Given the description of an element on the screen output the (x, y) to click on. 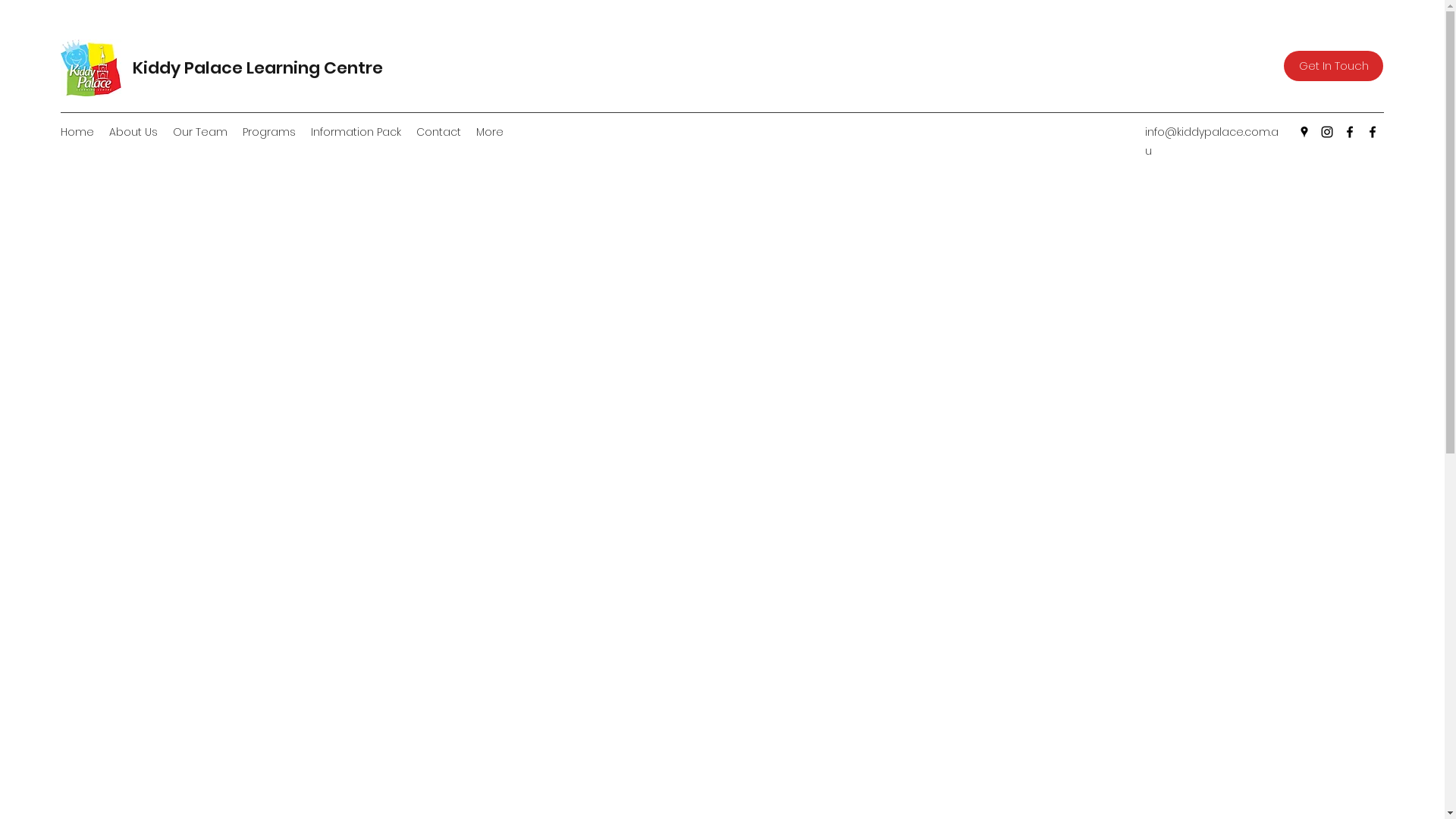
Kiddy Palace Learning Centre Element type: text (257, 67)
Get In Touch Element type: text (1333, 65)
Our Team Element type: text (200, 132)
Contact Element type: text (438, 132)
info@kiddypalace.com.au Element type: text (1211, 141)
About Us Element type: text (133, 132)
Information Pack Element type: text (355, 132)
Programs Element type: text (269, 132)
Home Element type: text (77, 132)
